Given the description of an element on the screen output the (x, y) to click on. 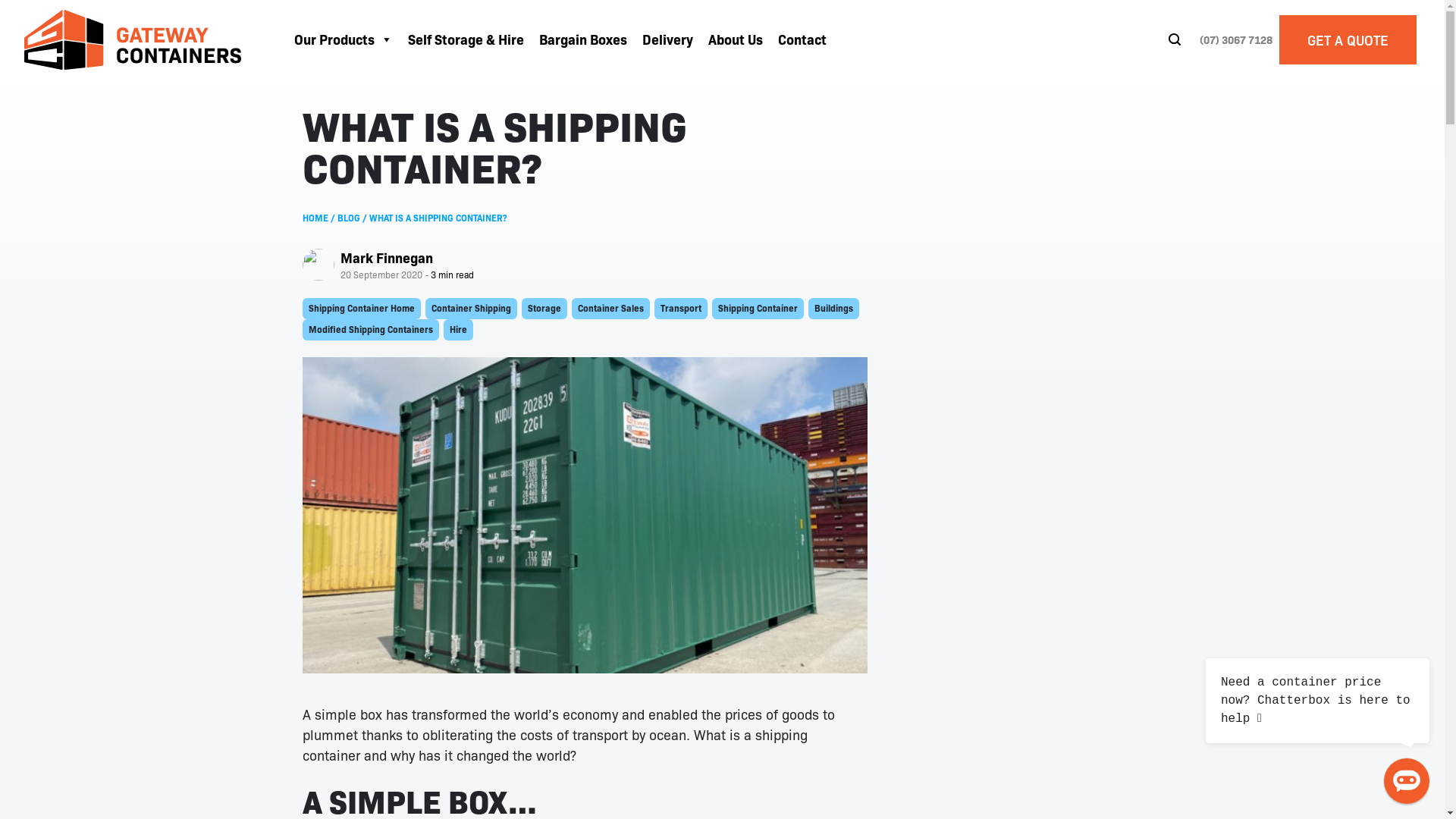
Delivery Element type: text (667, 39)
BLOG Element type: text (347, 216)
GET A QUOTE Element type: text (1347, 39)
Contact Element type: text (802, 39)
WHAT IS A SHIPPING CONTAINER? Element type: text (437, 216)
HOME Element type: text (314, 216)
Bargain Boxes Element type: text (582, 39)
Search Element type: text (1179, 39)
Self Storage & Hire Element type: text (465, 39)
(07) 3067 7128 Element type: text (1235, 39)
About Us Element type: text (735, 39)
Mark Finnegan Element type: text (385, 256)
Our Products Element type: text (343, 39)
